Given the description of an element on the screen output the (x, y) to click on. 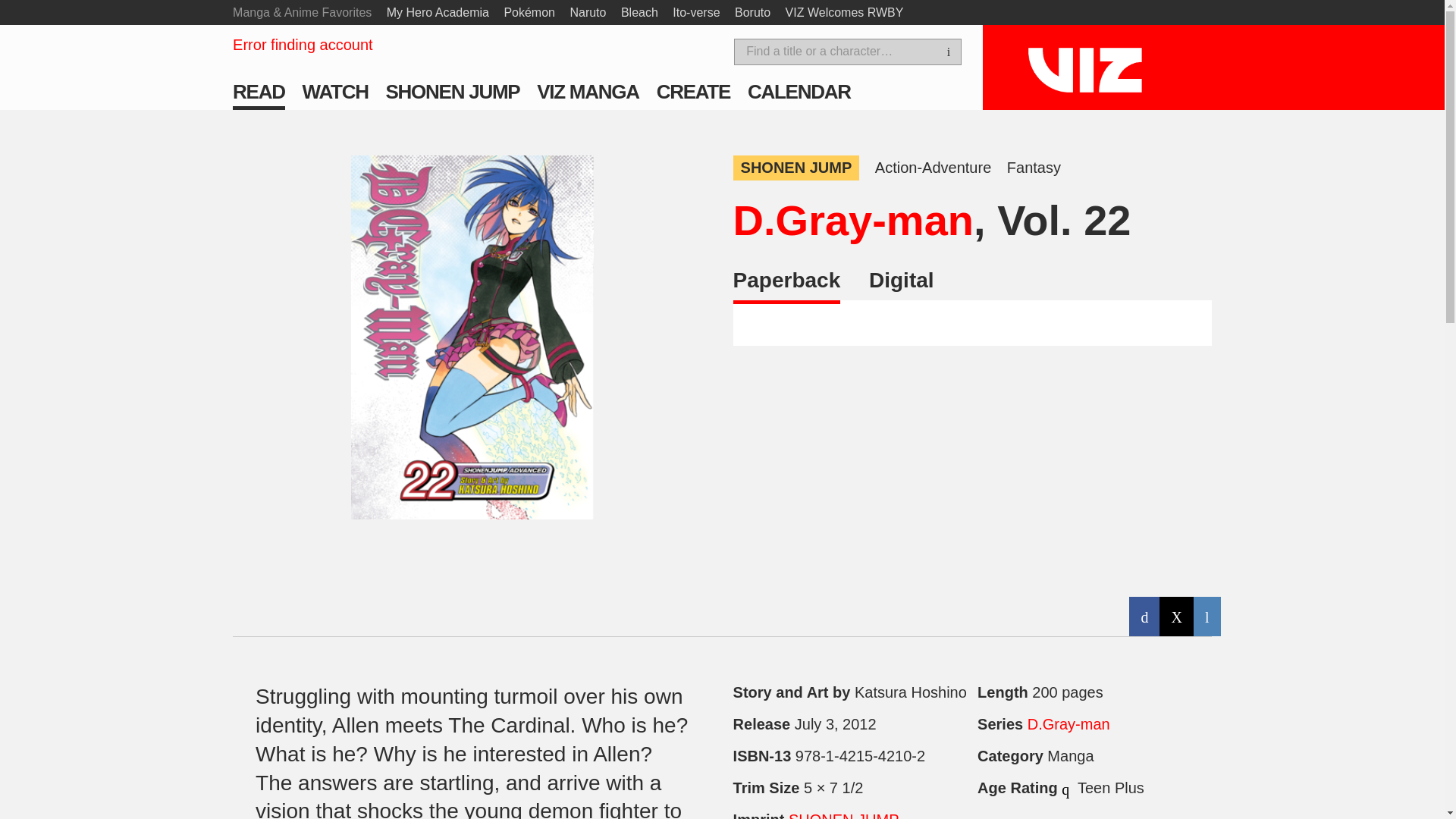
SHONEN JUMP (452, 91)
CALENDAR (799, 91)
WATCH (335, 91)
VIZ Welcomes RWBY (845, 11)
Boruto (752, 11)
Paperback (787, 285)
My Hero Academia (438, 11)
VIZ MANGA (588, 91)
D.Gray-man (853, 220)
READ (258, 91)
SHONEN JUMP (796, 167)
CREATE (693, 91)
Digital (901, 284)
Action-Adventure (933, 167)
Fantasy (1034, 167)
